Given the description of an element on the screen output the (x, y) to click on. 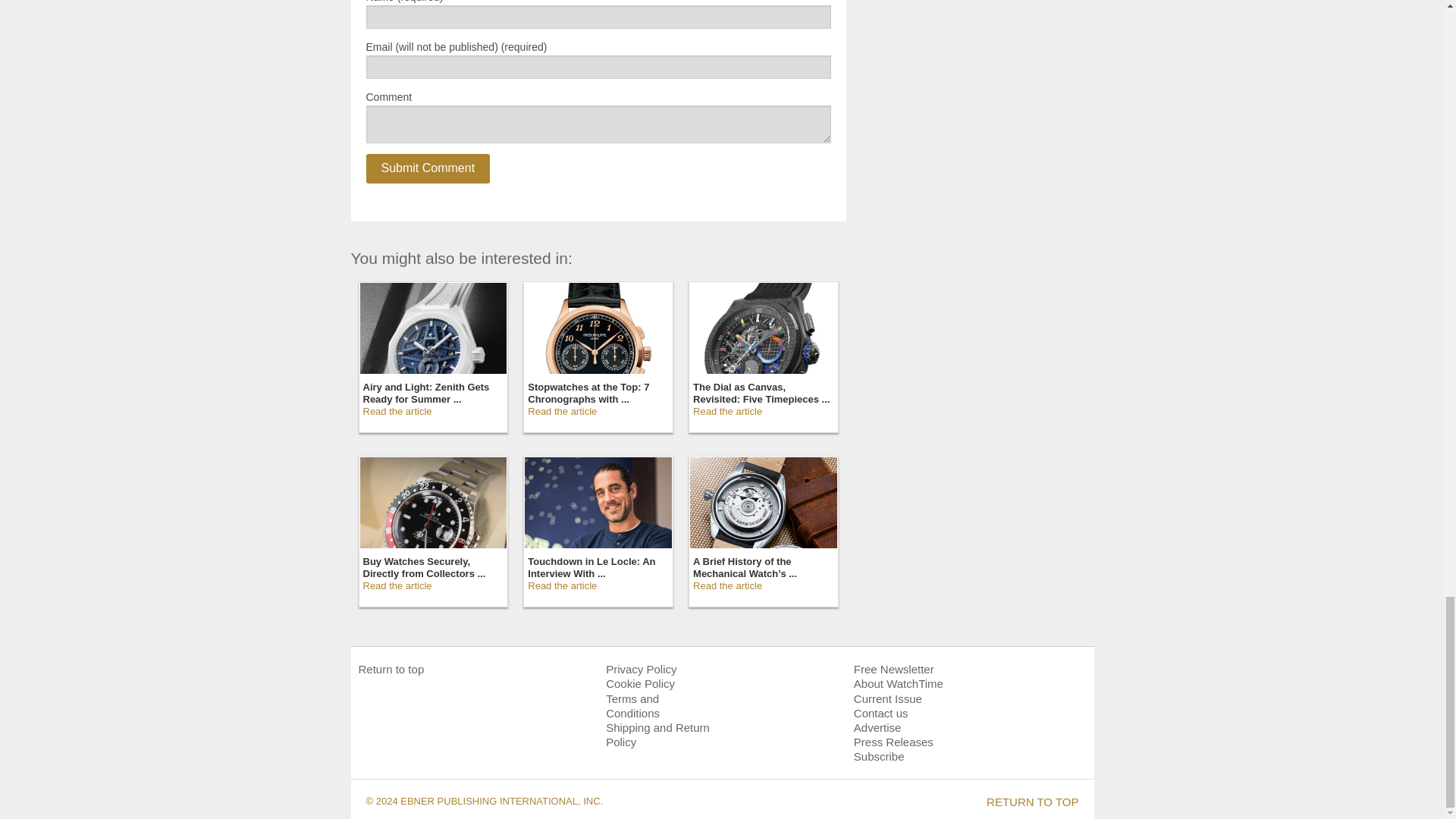
Submit Comment (427, 168)
